Given the description of an element on the screen output the (x, y) to click on. 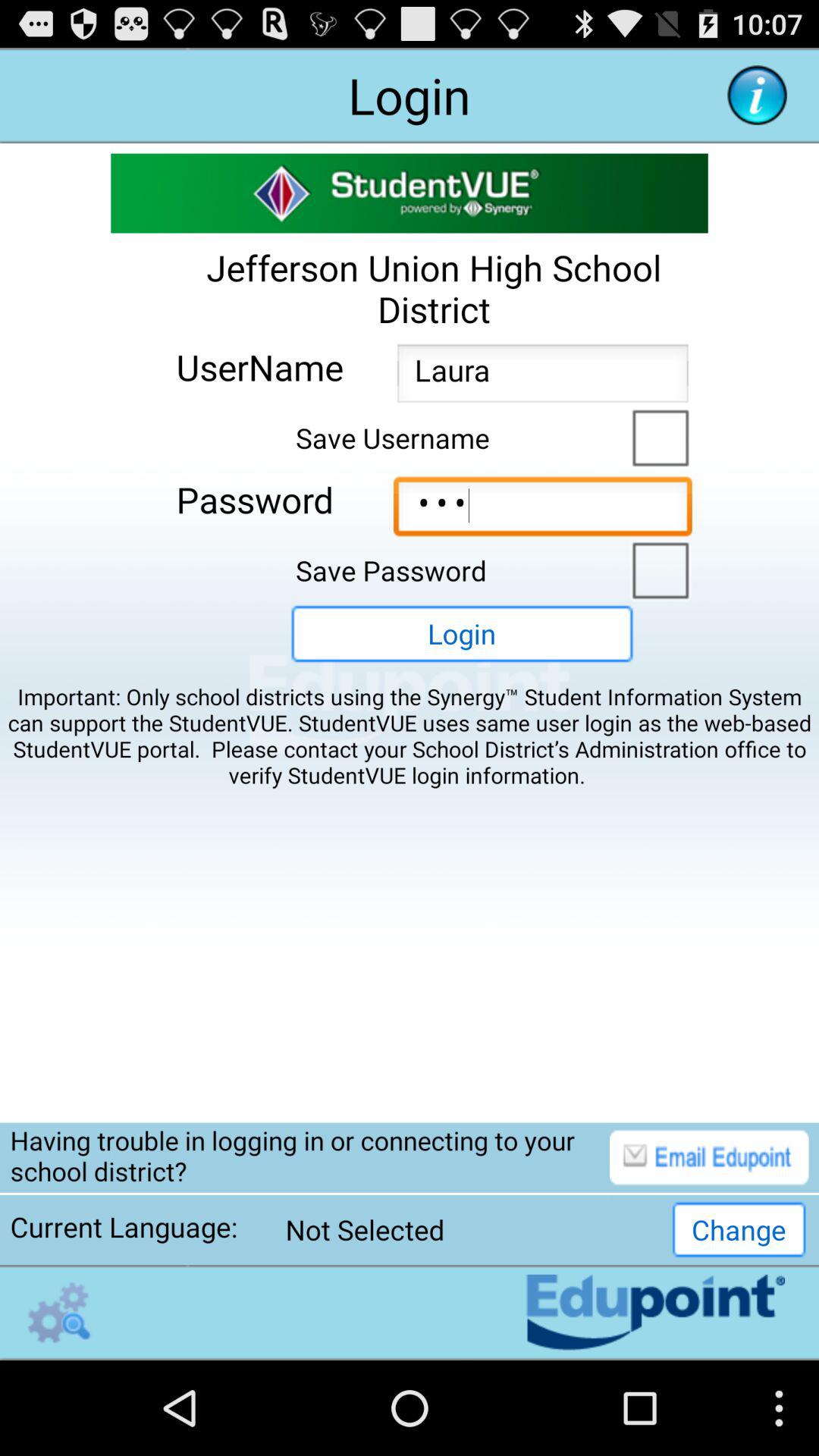
click the box (657, 436)
